Given the description of an element on the screen output the (x, y) to click on. 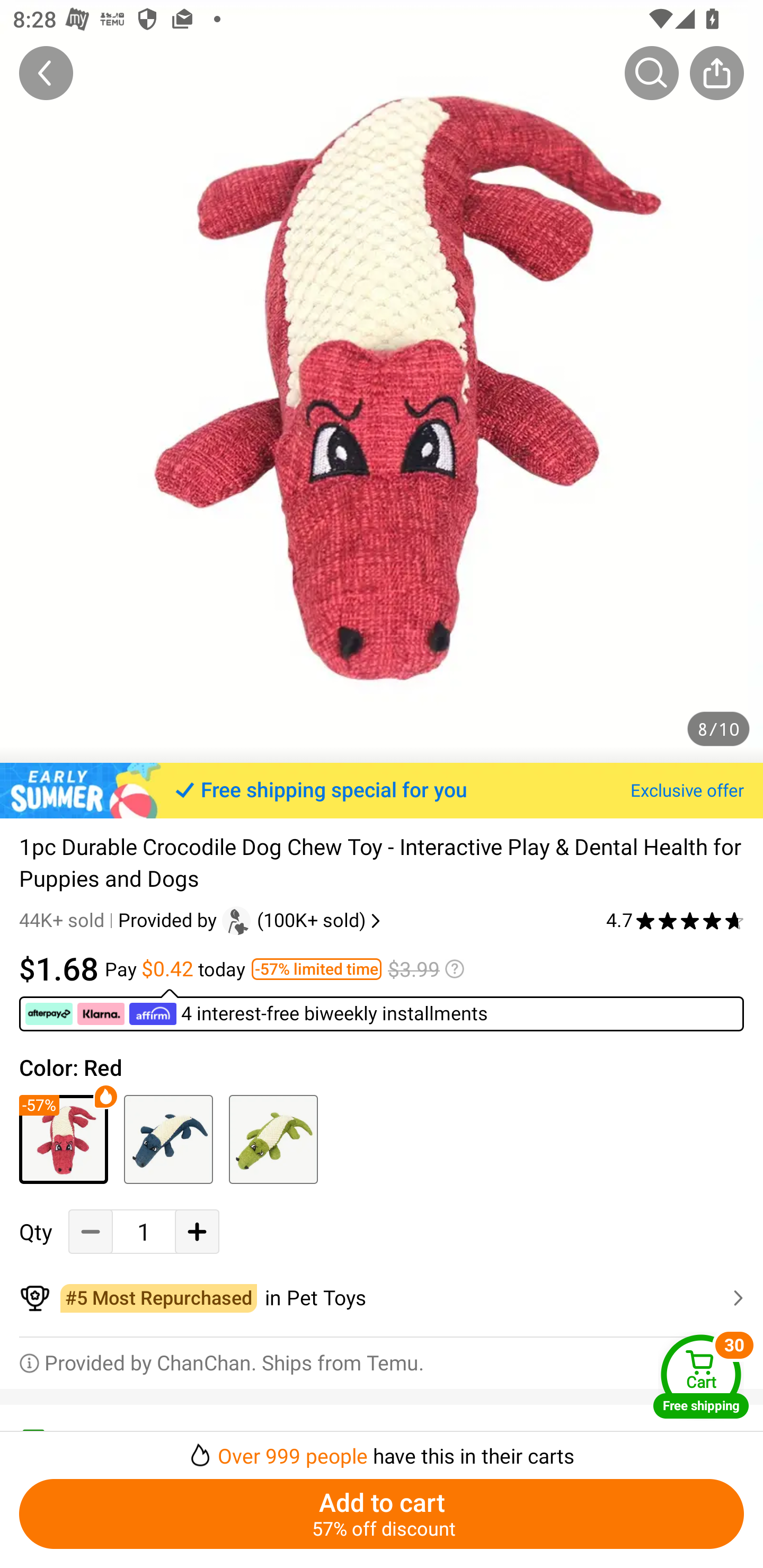
Back (46, 72)
Share (716, 72)
Free shipping special for you Exclusive offer (381, 790)
44K+ sold Provided by  (120, 920)
4.7 (674, 920)
￼ ￼ ￼ 4 interest-free biweekly installments (381, 1009)
Red -57% (63, 1138)
Blue (167, 1138)
Green (273, 1138)
Decrease Quantity Button (90, 1231)
Add Quantity button (196, 1231)
1 (143, 1232)
￼￼in Pet Toys (381, 1297)
Cart Free shipping Cart (701, 1375)
￼￼Over 999 people have this in their carts (381, 1450)
Add to cart  57% off discount (381, 1513)
